Given the description of an element on the screen output the (x, y) to click on. 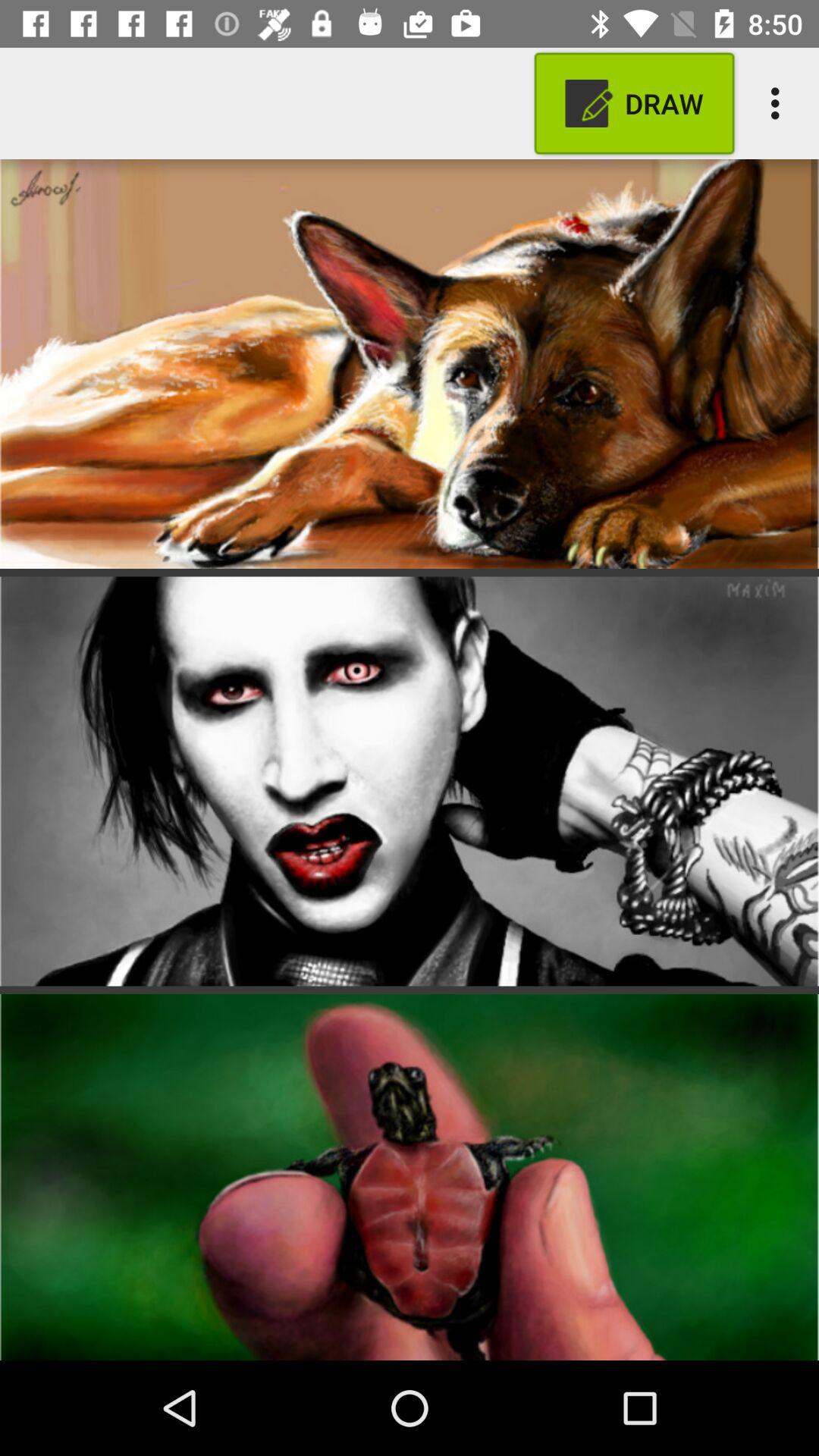
select the item next to the draw (779, 103)
